Given the description of an element on the screen output the (x, y) to click on. 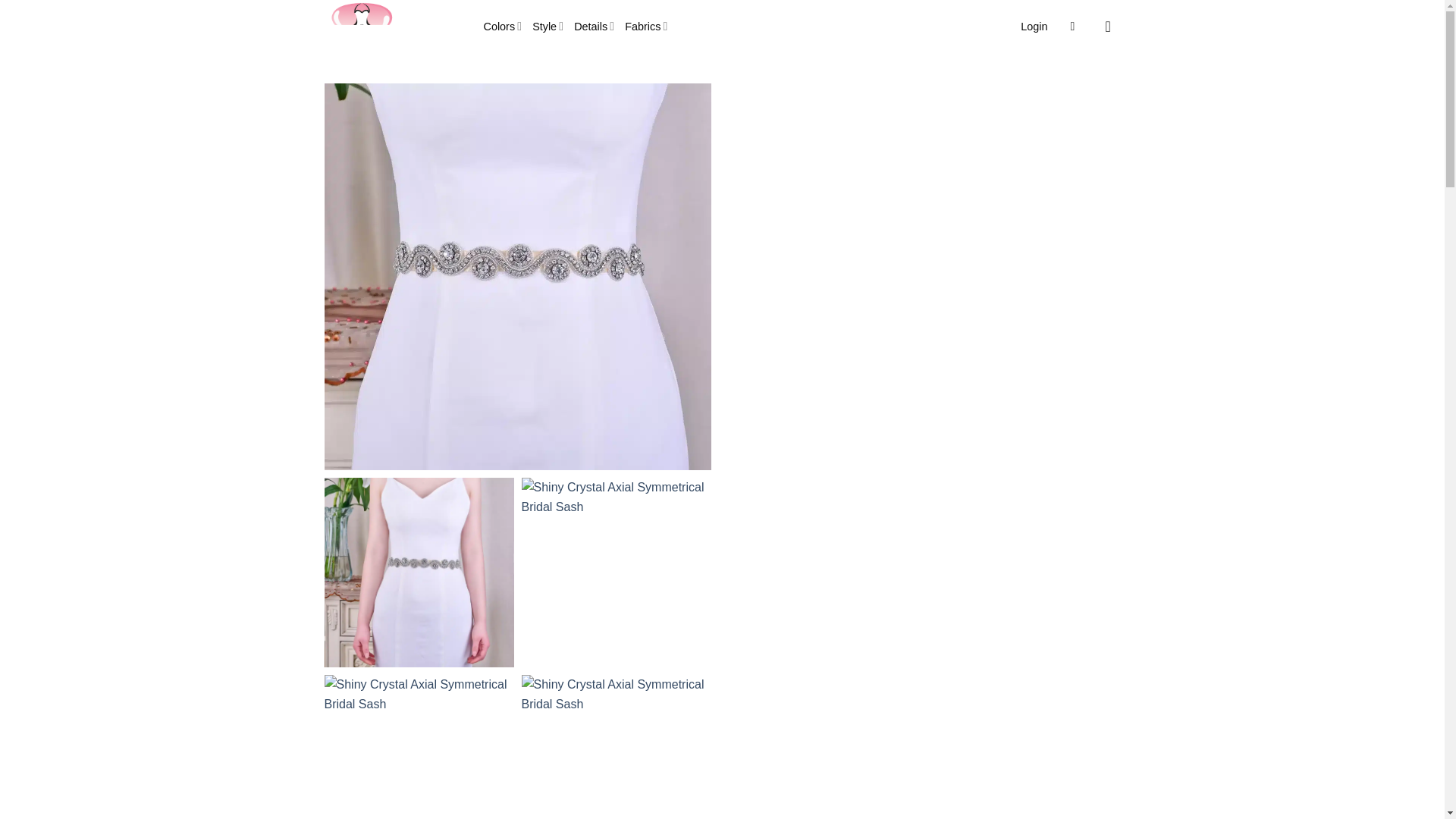
shiny-crystal-axial-symmetrical-bridal-sash-3.webp (418, 746)
shiny-crystal-axial-symmetrical-bridal-sash-1.webp (418, 572)
Bridal Australia (392, 26)
Style (547, 25)
shiny-crystal-axial-symmetrical-bridal-sash-4.webp (616, 746)
shiny-crystal-axial-symmetrical-bridal-sash-2.webp (616, 572)
Details (593, 25)
Colors (502, 25)
